Given the description of an element on the screen output the (x, y) to click on. 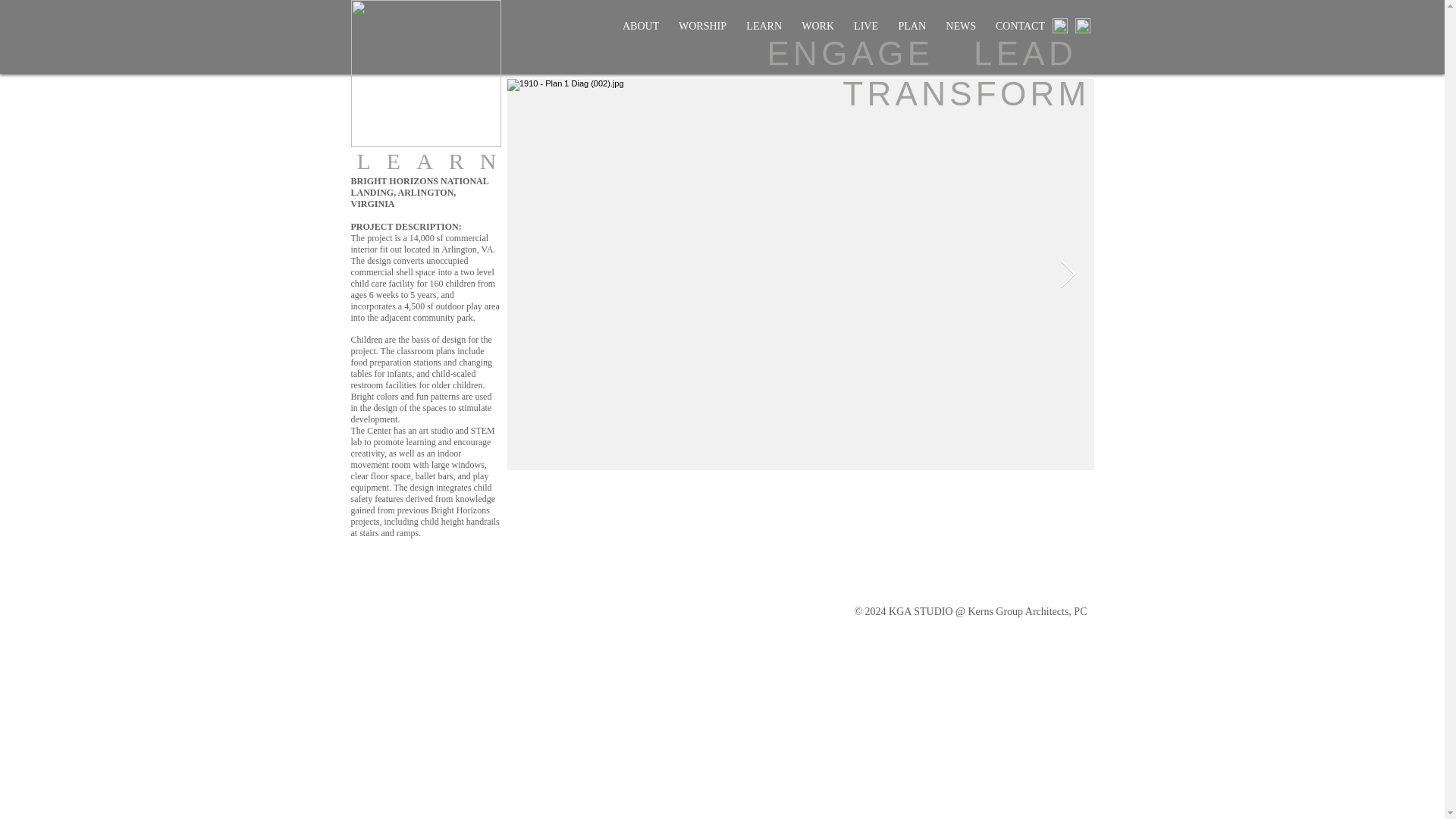
PLAN (912, 26)
WORSHIP (702, 26)
LEARN (764, 26)
WORK (818, 26)
CONTACT (1019, 26)
LIVE (866, 26)
ABOUT (640, 26)
NEWS (960, 26)
